Given the description of an element on the screen output the (x, y) to click on. 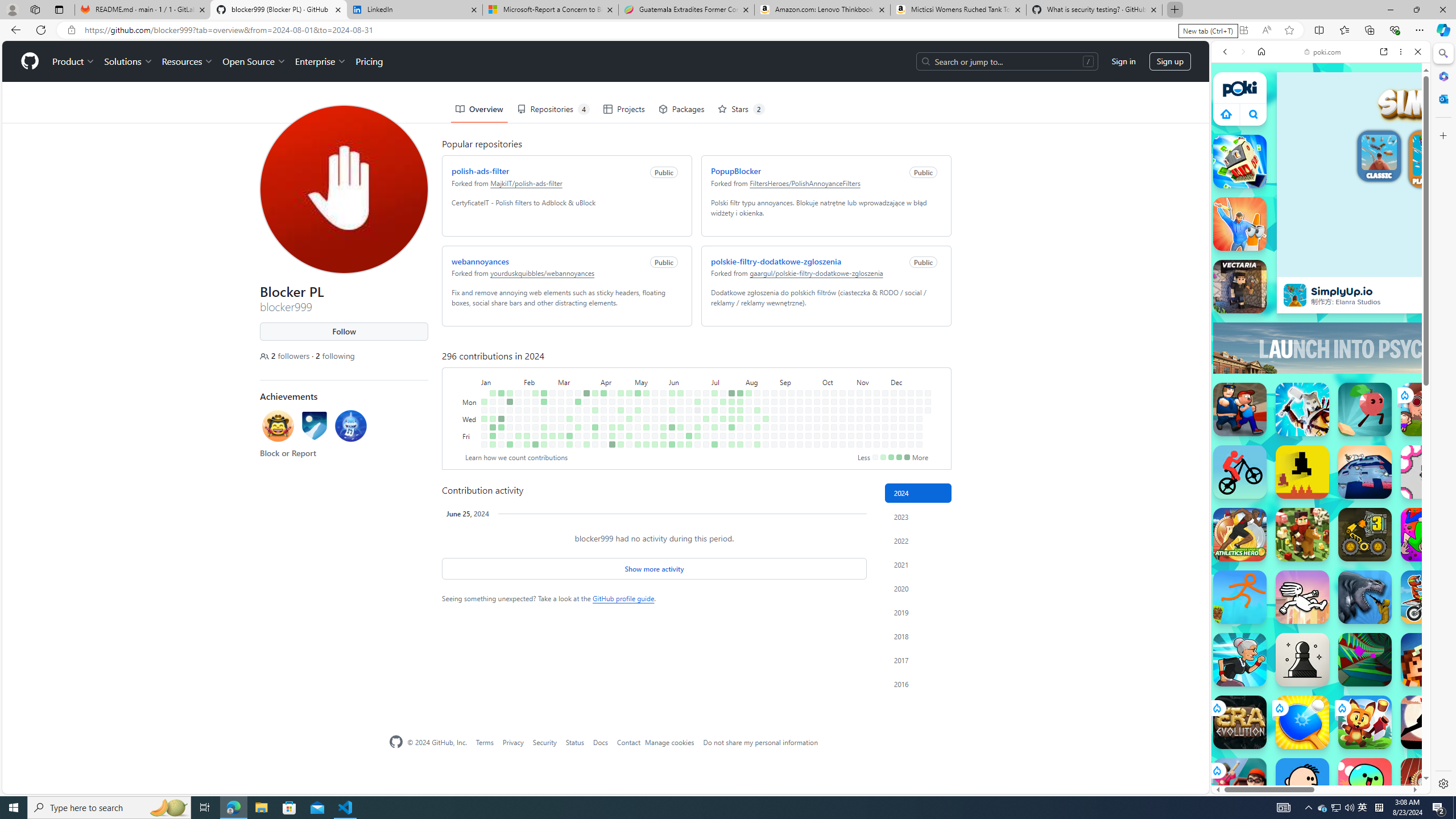
SimplyUp.io (1295, 295)
1 contribution on August 21st. (765, 418)
No contributions on February 5th. (526, 401)
No contributions on November 24th. (885, 392)
No contributions on August 25th. (774, 392)
No contributions on September 18th. (799, 418)
No contributions on March 3rd. (560, 392)
No contributions on April 22nd. (620, 401)
No contributions on December 23rd. (919, 401)
Blumgi Slime Blumgi Slime (1364, 784)
No contributions on December 9th. (902, 401)
Show More Two Player Games (1390, 323)
Achievement: Arctic Code Vault Contributor (315, 427)
2 contributions on June 13th. (680, 427)
1 contribution on May 7th. (637, 410)
